Given the description of an element on the screen output the (x, y) to click on. 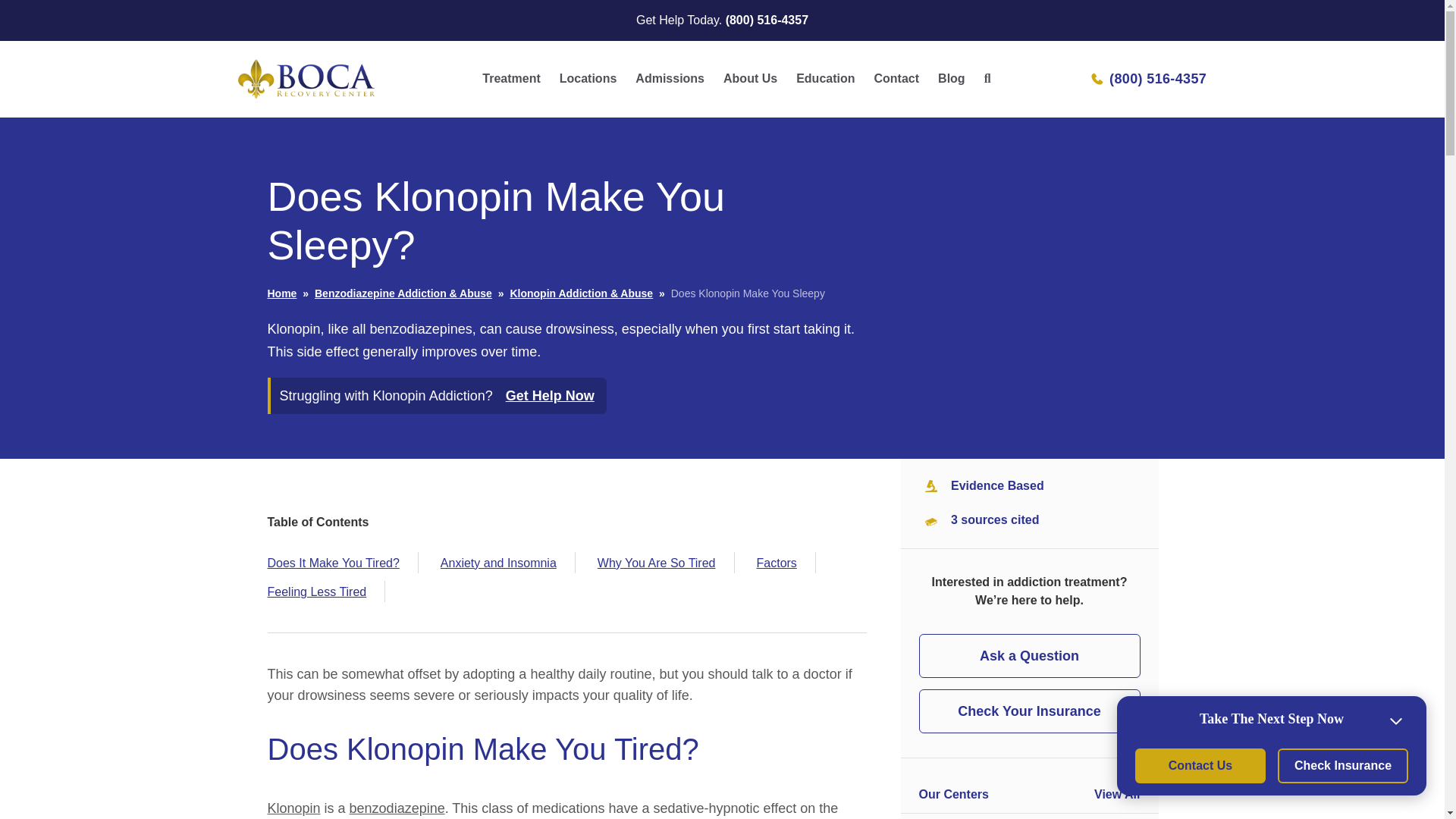
Get started on your recovery. (669, 78)
Admissions (669, 78)
Education (825, 78)
About Us (750, 78)
Explore Locations Tailored To You (587, 78)
Locations (587, 78)
Treatment (510, 78)
Boca Recovery Center - Your Path to Recovery (380, 109)
Have Questions Or Start Treatment (510, 78)
